Given the description of an element on the screen output the (x, y) to click on. 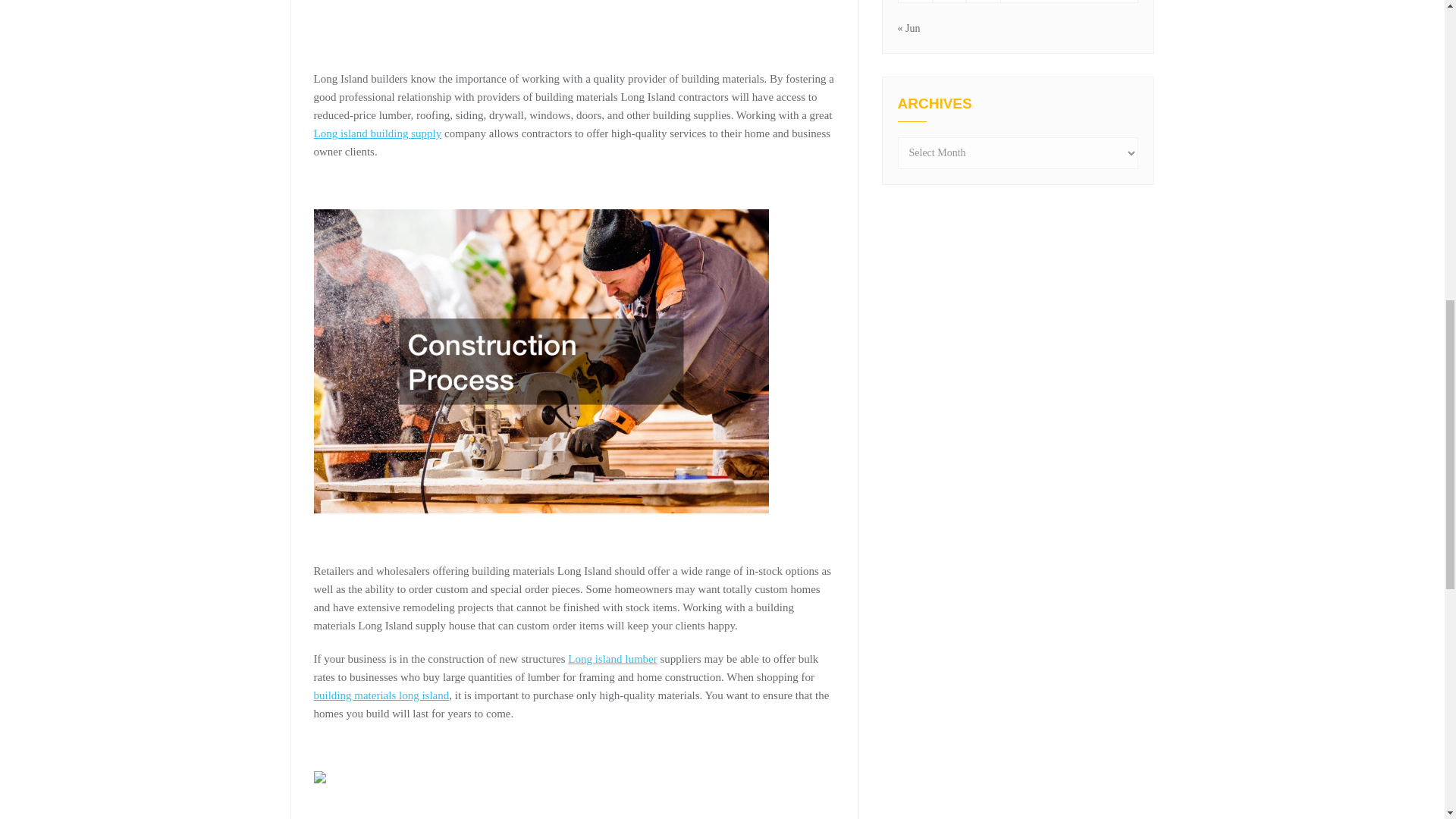
Building materials long island, Long island lumber (381, 695)
What A General Contractor Does (556, 7)
Long island building supply (378, 133)
Long island lumber (611, 658)
Long island building supply (378, 133)
building materials long island (381, 695)
For more about Building materials long island (611, 658)
